Given the description of an element on the screen output the (x, y) to click on. 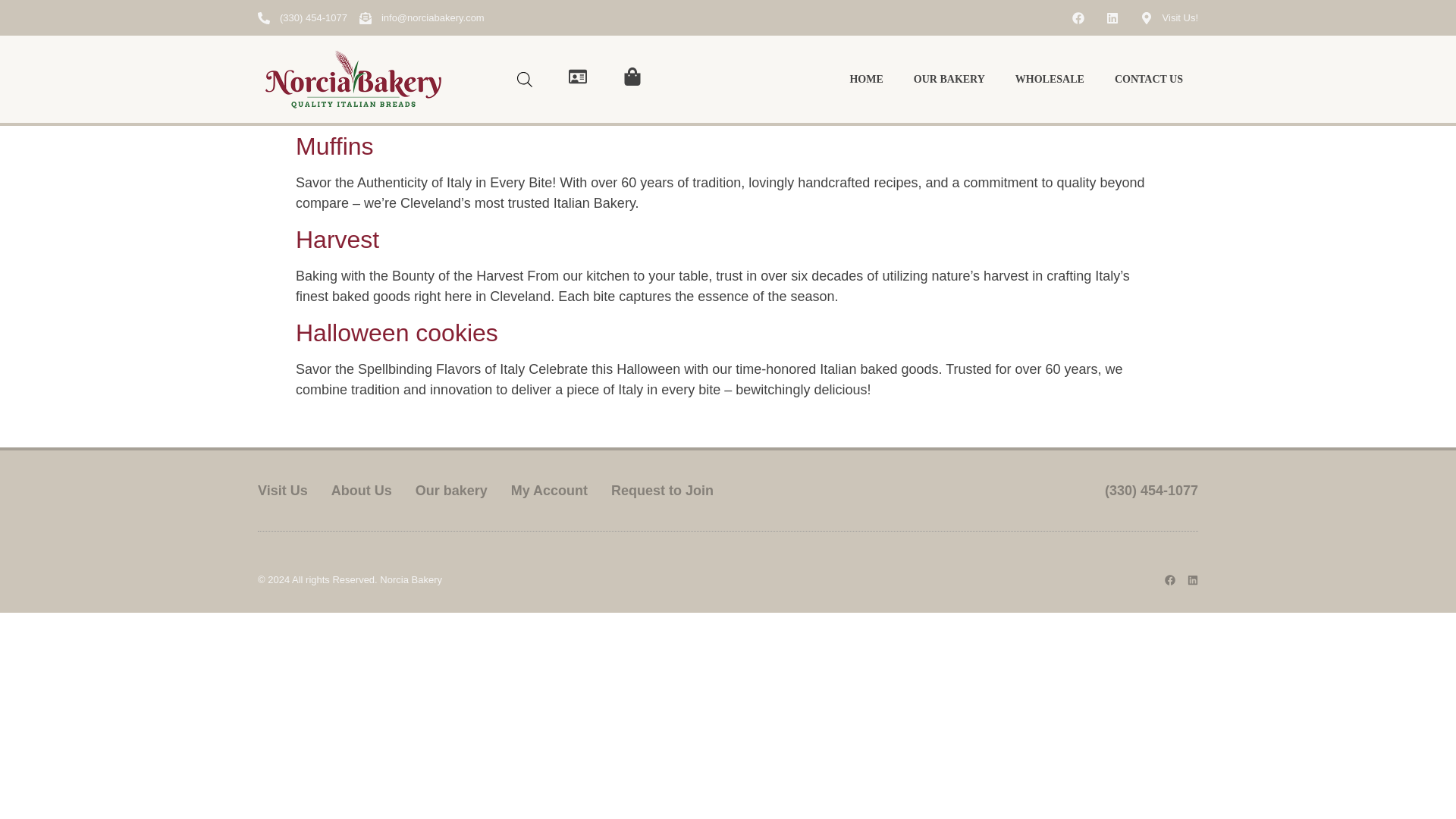
Halloween cookies (396, 332)
WHOLESALE (1049, 79)
Visit Us! (1169, 17)
Harvest (336, 239)
Muffins (334, 145)
Visit Us (282, 490)
Our bakery (450, 490)
HOME (866, 79)
My Account (549, 490)
CONTACT US (1148, 79)
Request to Join (662, 490)
About Us (361, 490)
OUR BAKERY (949, 79)
